Given the description of an element on the screen output the (x, y) to click on. 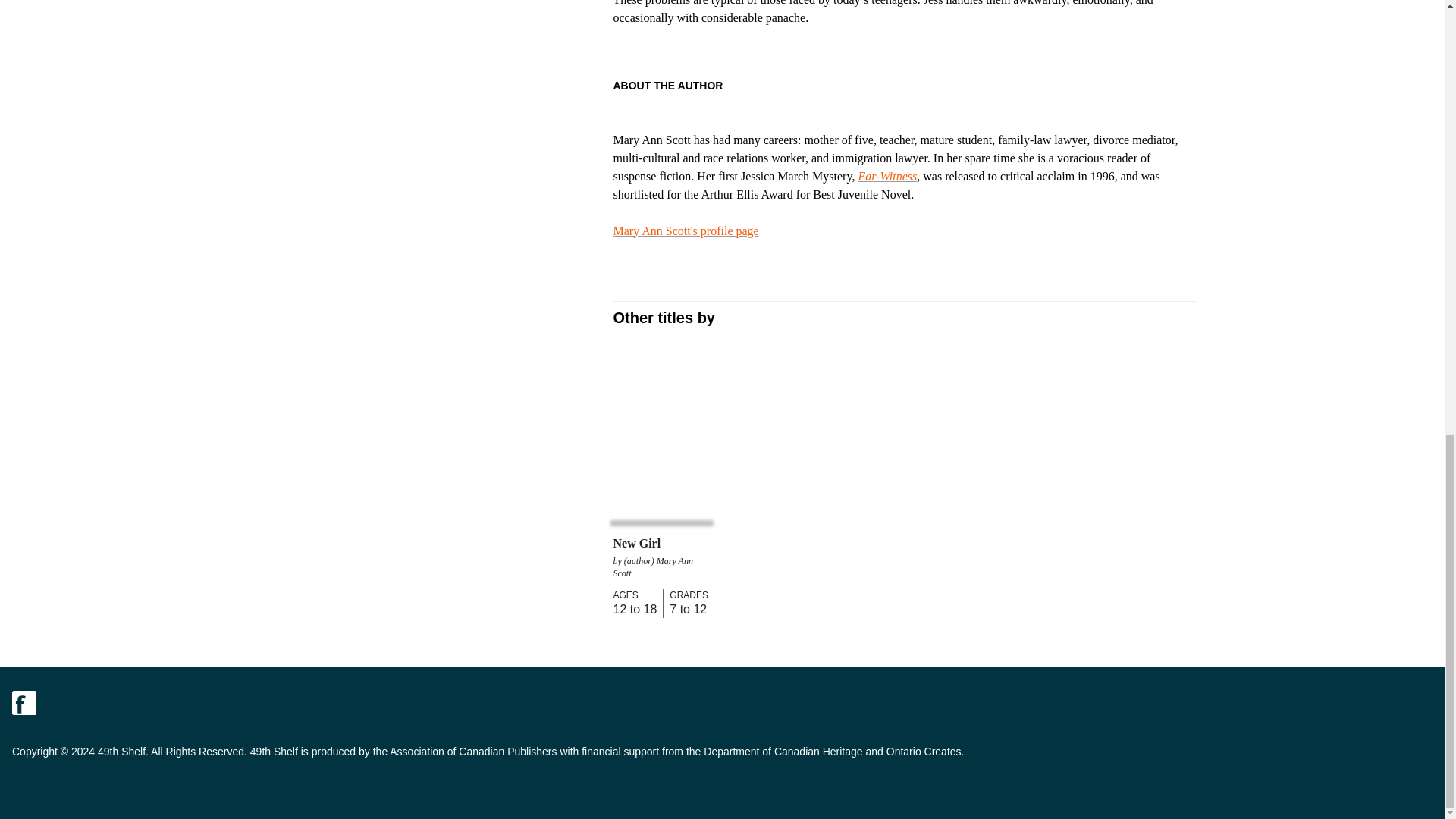
Mary Ann Scott's profile page (685, 230)
Recommended Ages (634, 594)
Visit us on Facebook (23, 702)
Recommended Grades (685, 594)
Ear-Witness (887, 175)
